Given the description of an element on the screen output the (x, y) to click on. 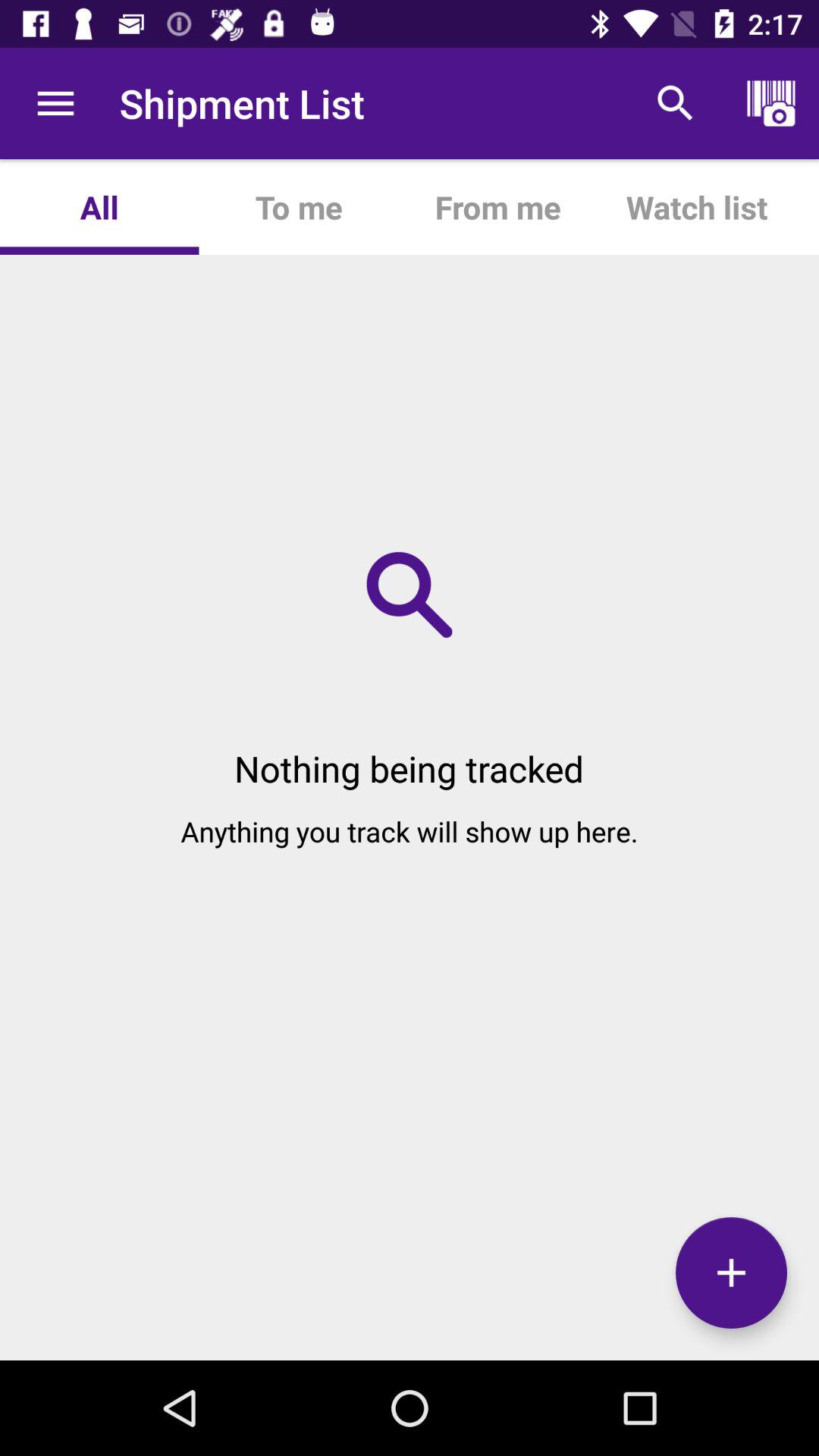
turn off app next to the shipment list (55, 103)
